Given the description of an element on the screen output the (x, y) to click on. 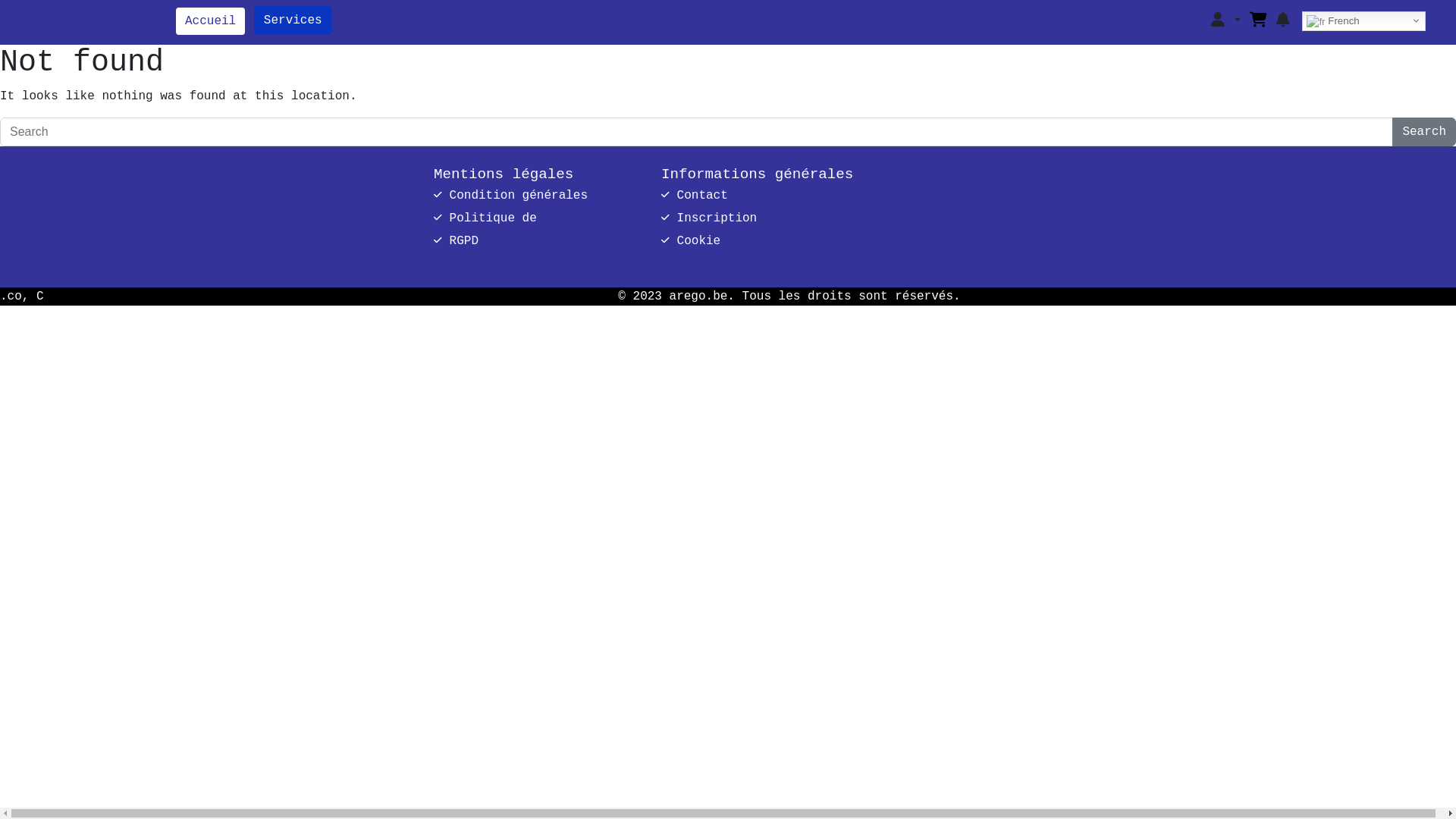
RGPD Element type: text (455, 240)
Contact Element type: text (694, 195)
Accueil Element type: text (210, 21)
Inscription Element type: text (708, 218)
Cookie Element type: text (690, 240)
Services Element type: text (293, 20)
French Element type: text (1363, 21)
